Given the description of an element on the screen output the (x, y) to click on. 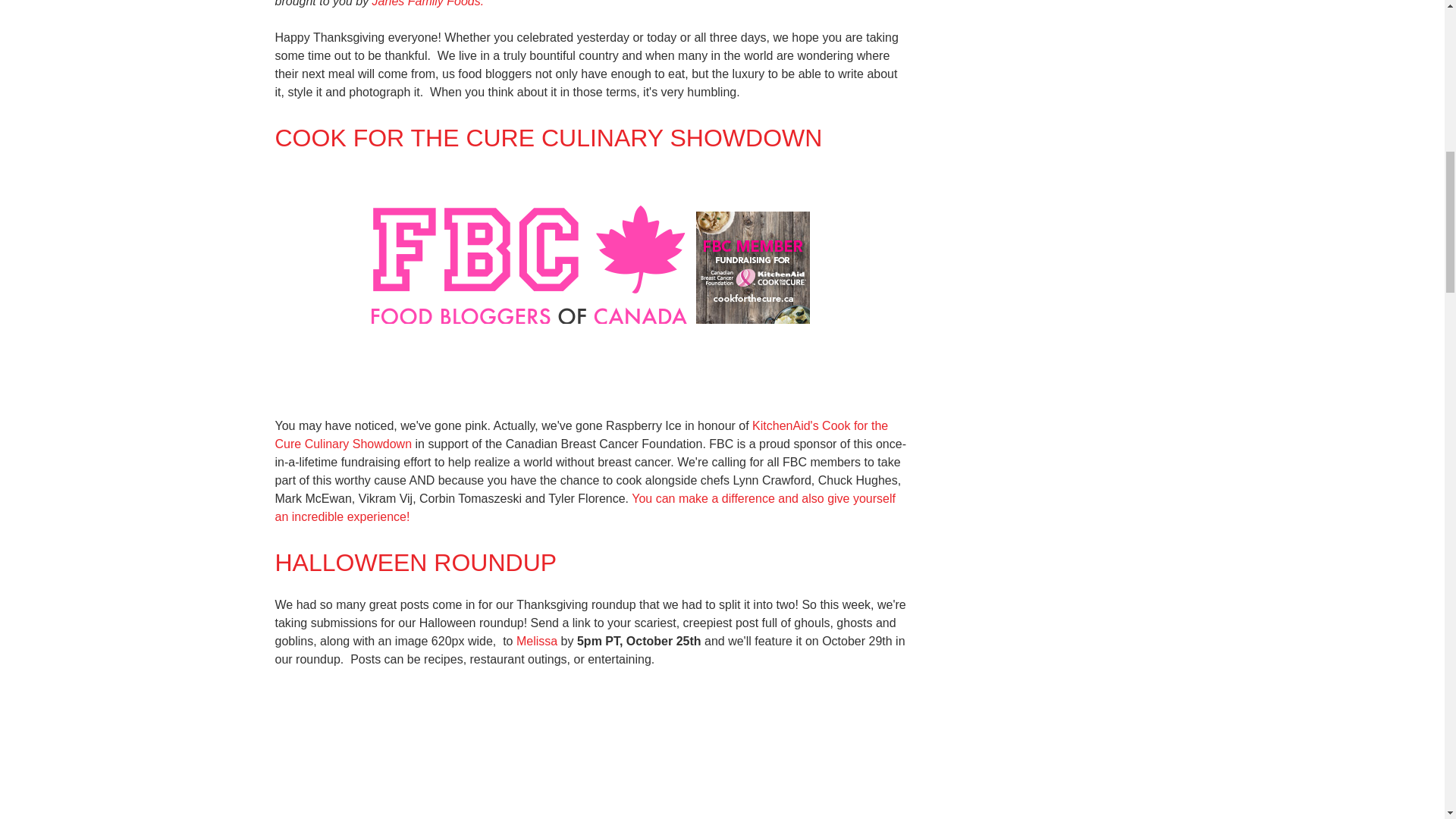
Janes Family Foods (428, 3)
Cook For the Cure (581, 434)
